Given the description of an element on the screen output the (x, y) to click on. 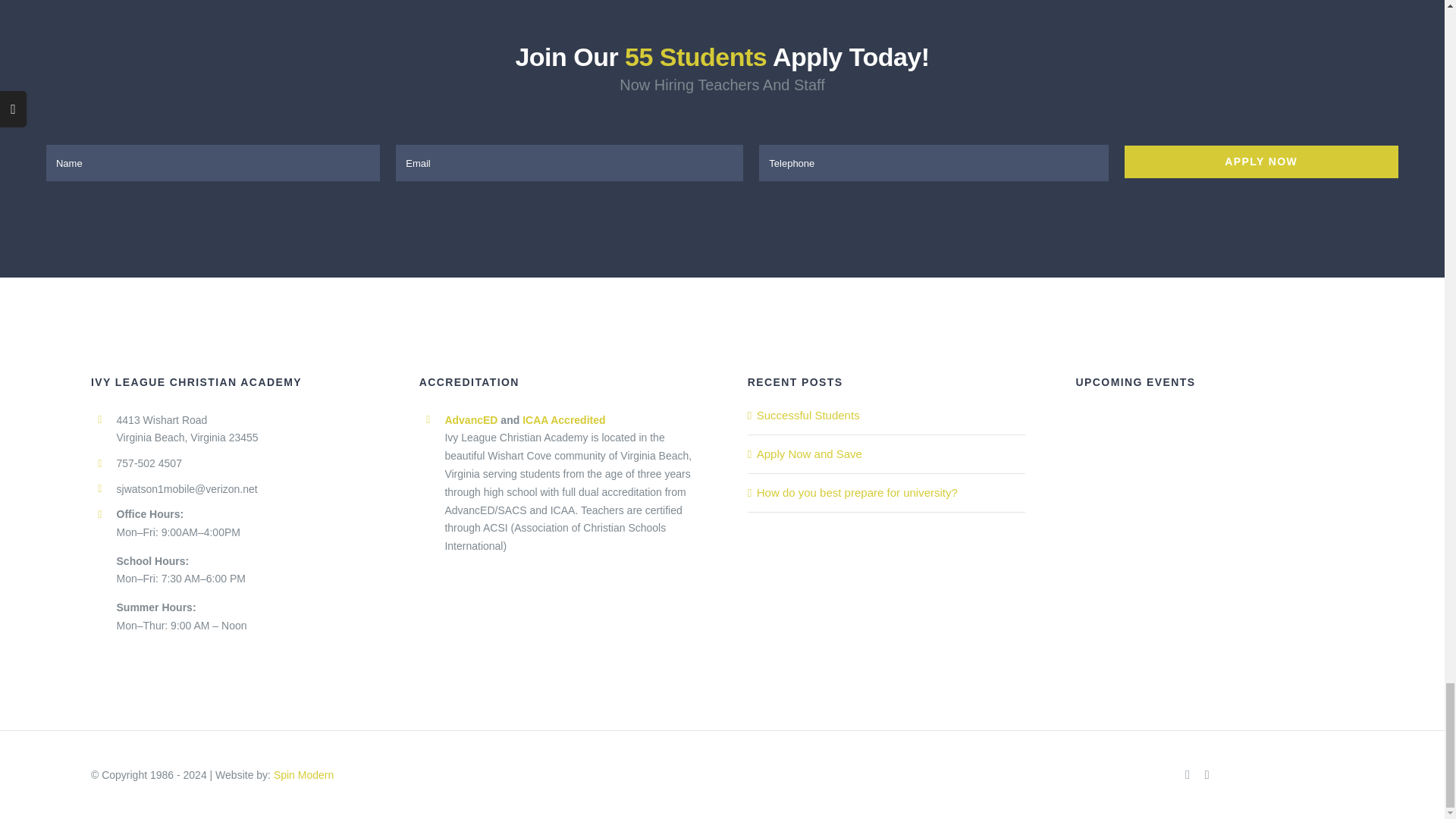
APPLY NOW (722, 162)
